Given the description of an element on the screen output the (x, y) to click on. 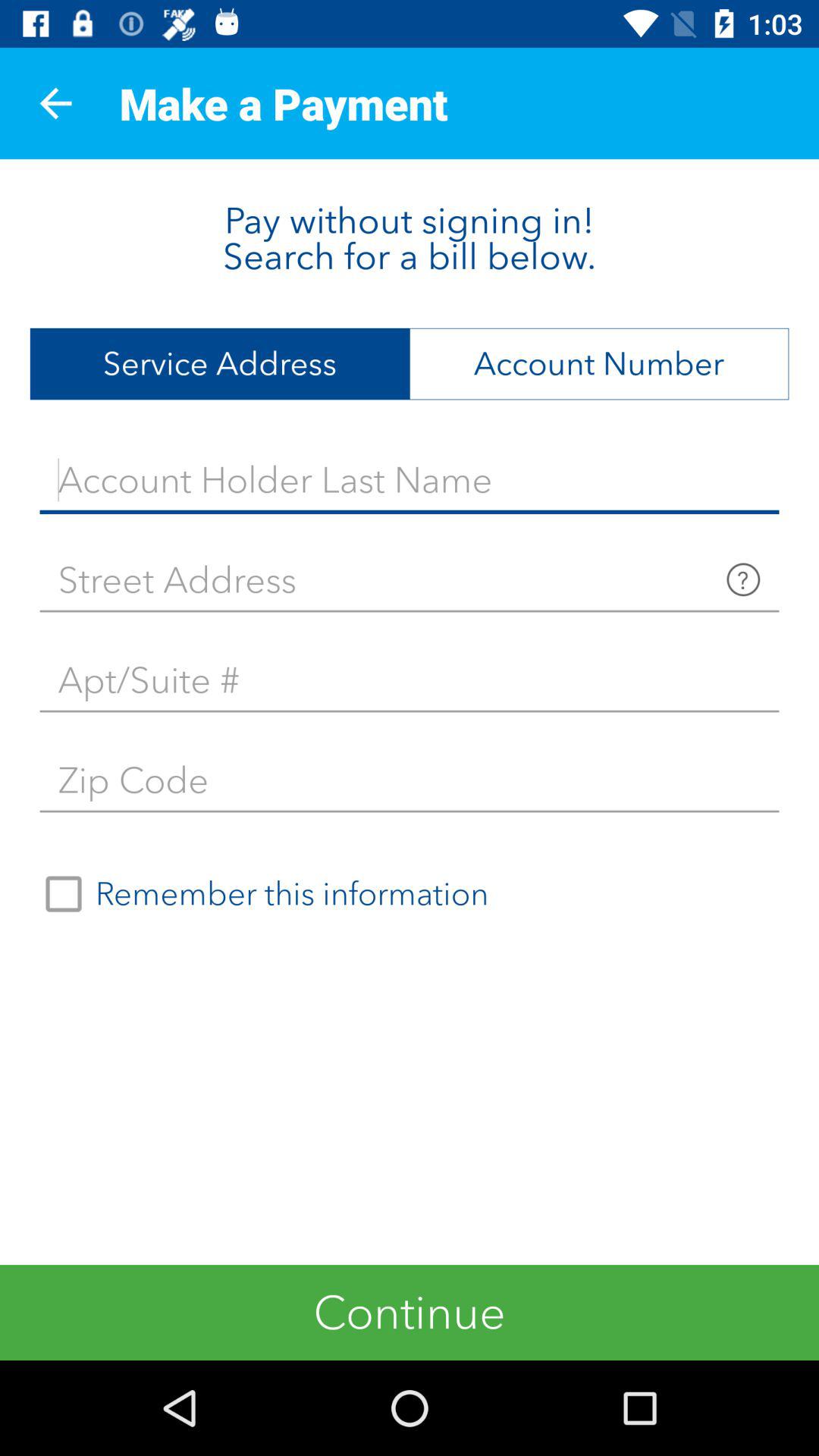
tap the item at the top right corner (598, 363)
